Given the description of an element on the screen output the (x, y) to click on. 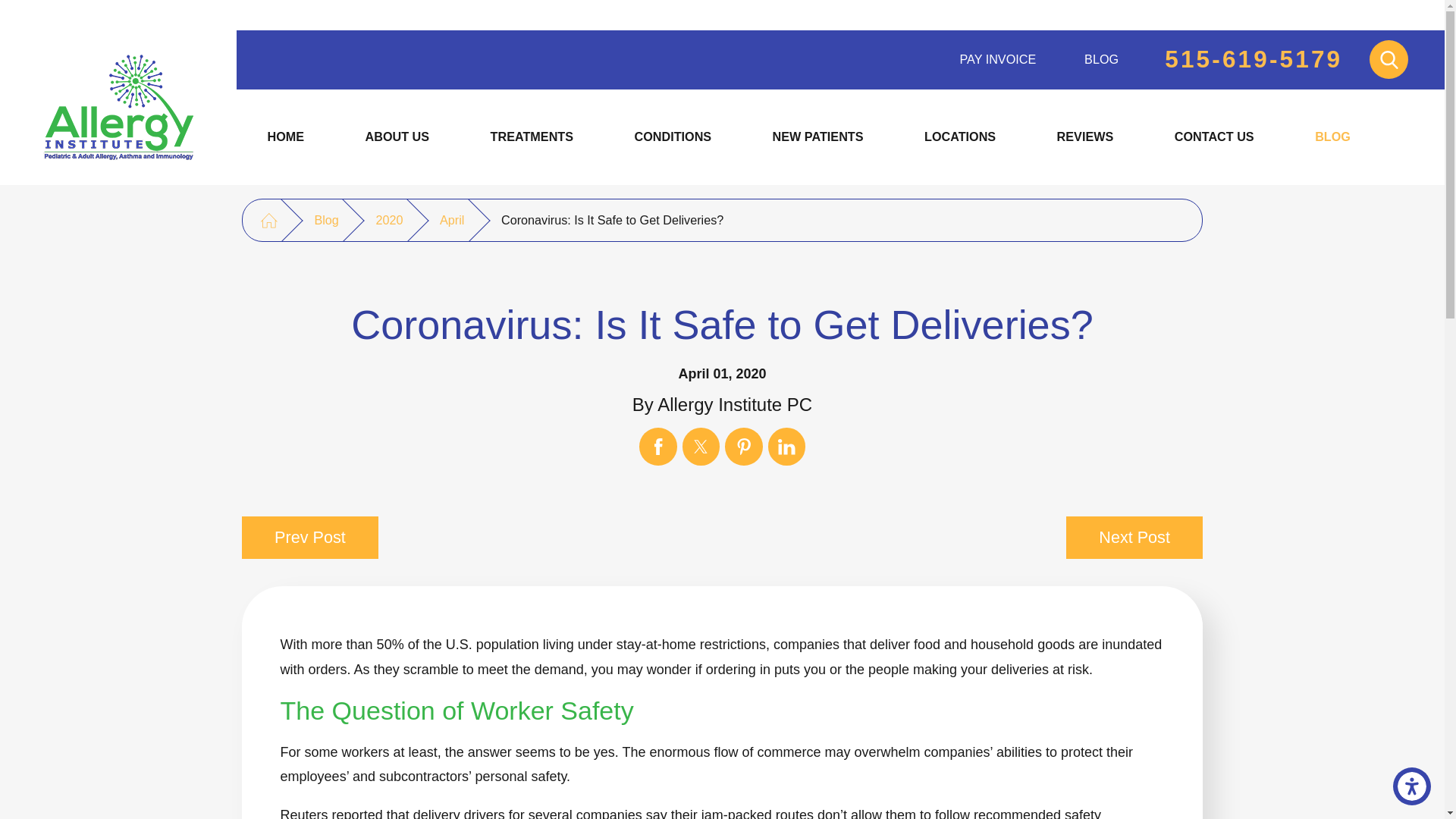
Go Home (269, 220)
Search Our Site (1388, 59)
Search Icon (1388, 59)
TREATMENTS (532, 137)
BLOG (1332, 137)
NEW PATIENTS (817, 137)
515-619-5179 (1253, 59)
BLOG (1101, 58)
PAY INVOICE (997, 58)
LOCATIONS (959, 137)
